Given the description of an element on the screen output the (x, y) to click on. 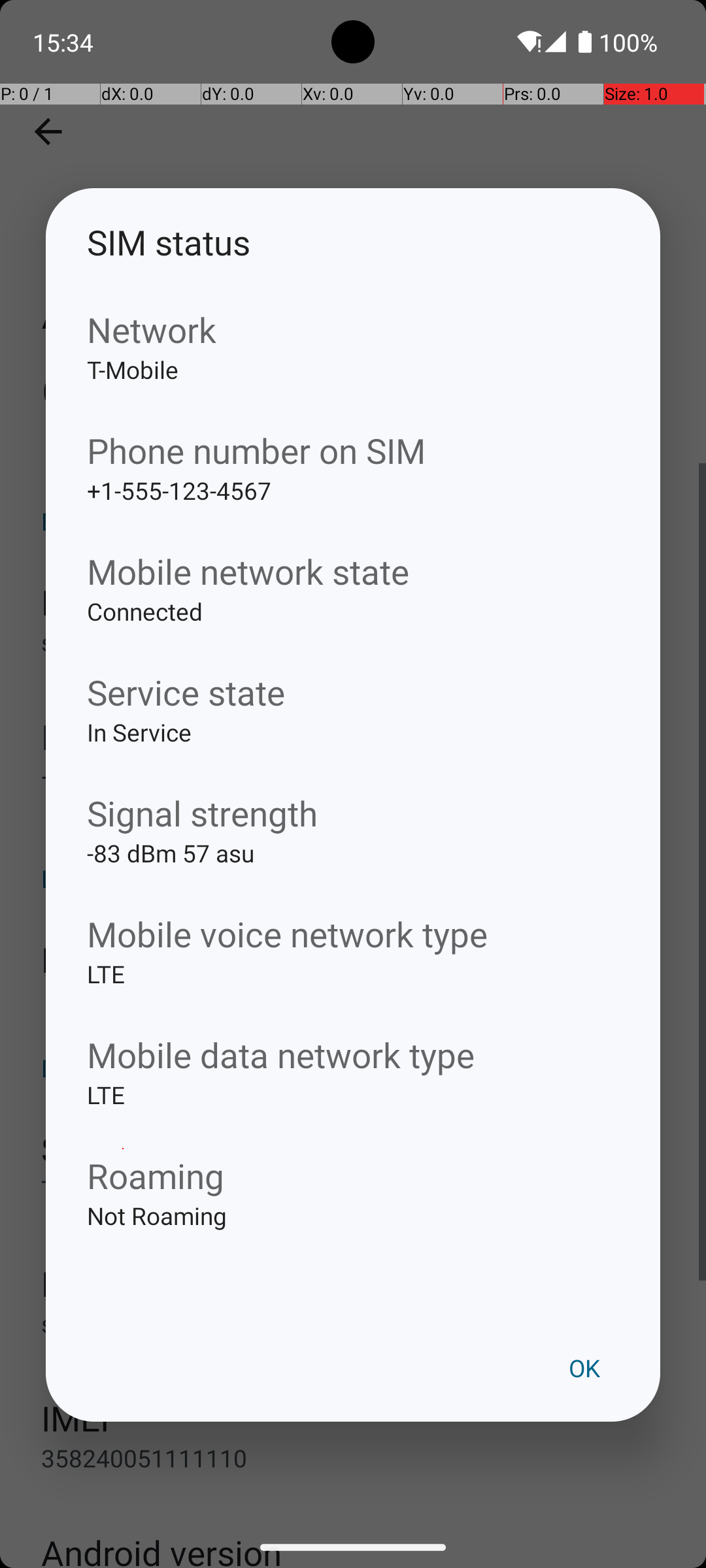
SIM status Element type: android.widget.TextView (352, 241)
Network Element type: android.widget.TextView (352, 329)
Phone number on SIM Element type: android.widget.TextView (352, 450)
+1-555-123-4567 Element type: android.widget.TextView (352, 510)
Mobile network state Element type: android.widget.TextView (352, 571)
Connected Element type: android.widget.TextView (352, 631)
Service state Element type: android.widget.TextView (352, 692)
In Service Element type: android.widget.TextView (352, 752)
Signal strength Element type: android.widget.TextView (352, 812)
-83 dBm 57 asu Element type: android.widget.TextView (352, 873)
Mobile voice network type Element type: android.widget.TextView (352, 933)
LTE Element type: android.widget.TextView (352, 994)
Mobile data network type Element type: android.widget.TextView (352, 1054)
Roaming Element type: android.widget.TextView (352, 1175)
Not Roaming Element type: android.widget.TextView (352, 1235)
